Given the description of an element on the screen output the (x, y) to click on. 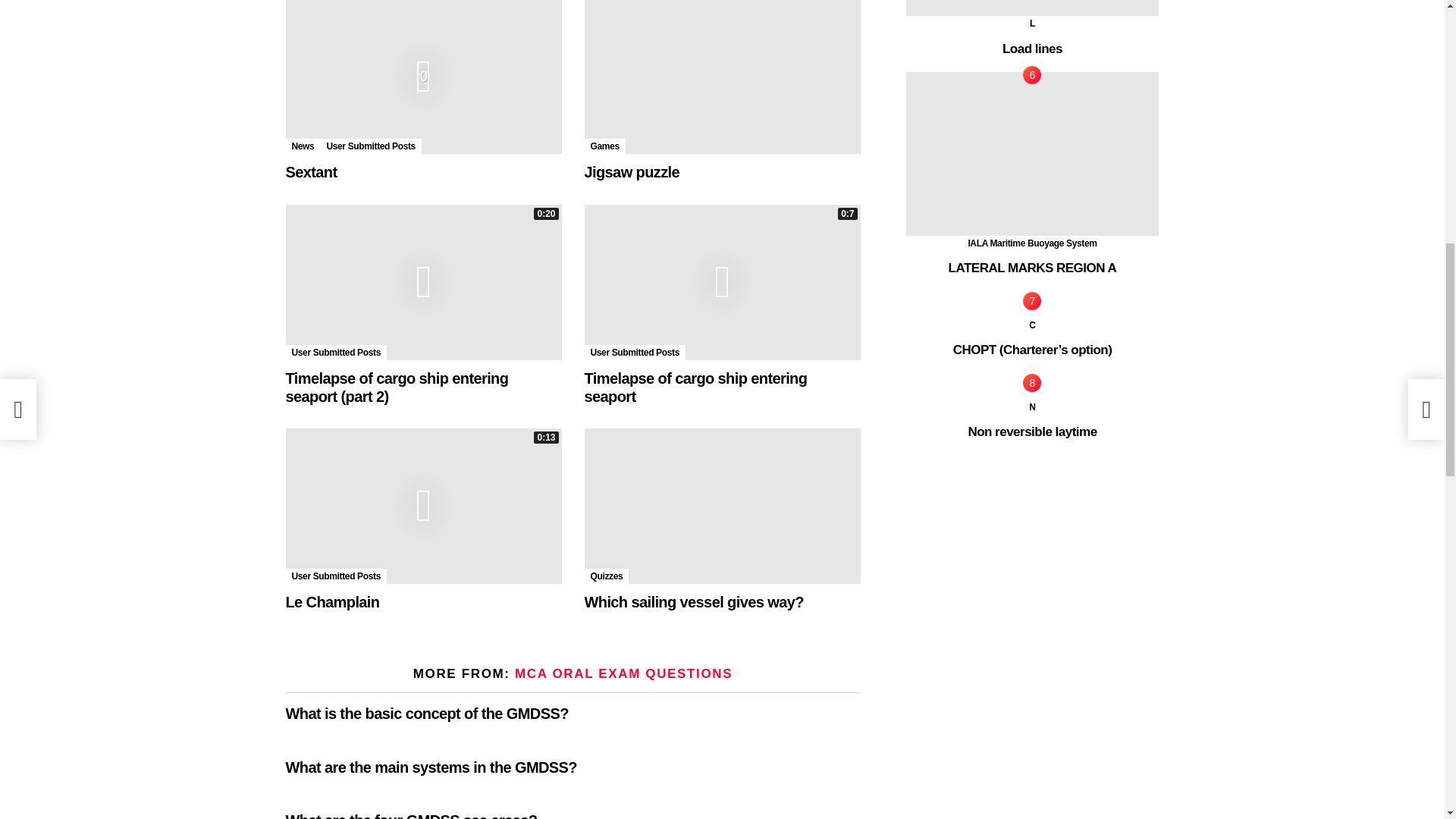
Jigsaw puzzle (721, 76)
Timelapse of cargo ship entering seaport (721, 282)
Le Champlain (422, 505)
Sextant (422, 76)
